Given the description of an element on the screen output the (x, y) to click on. 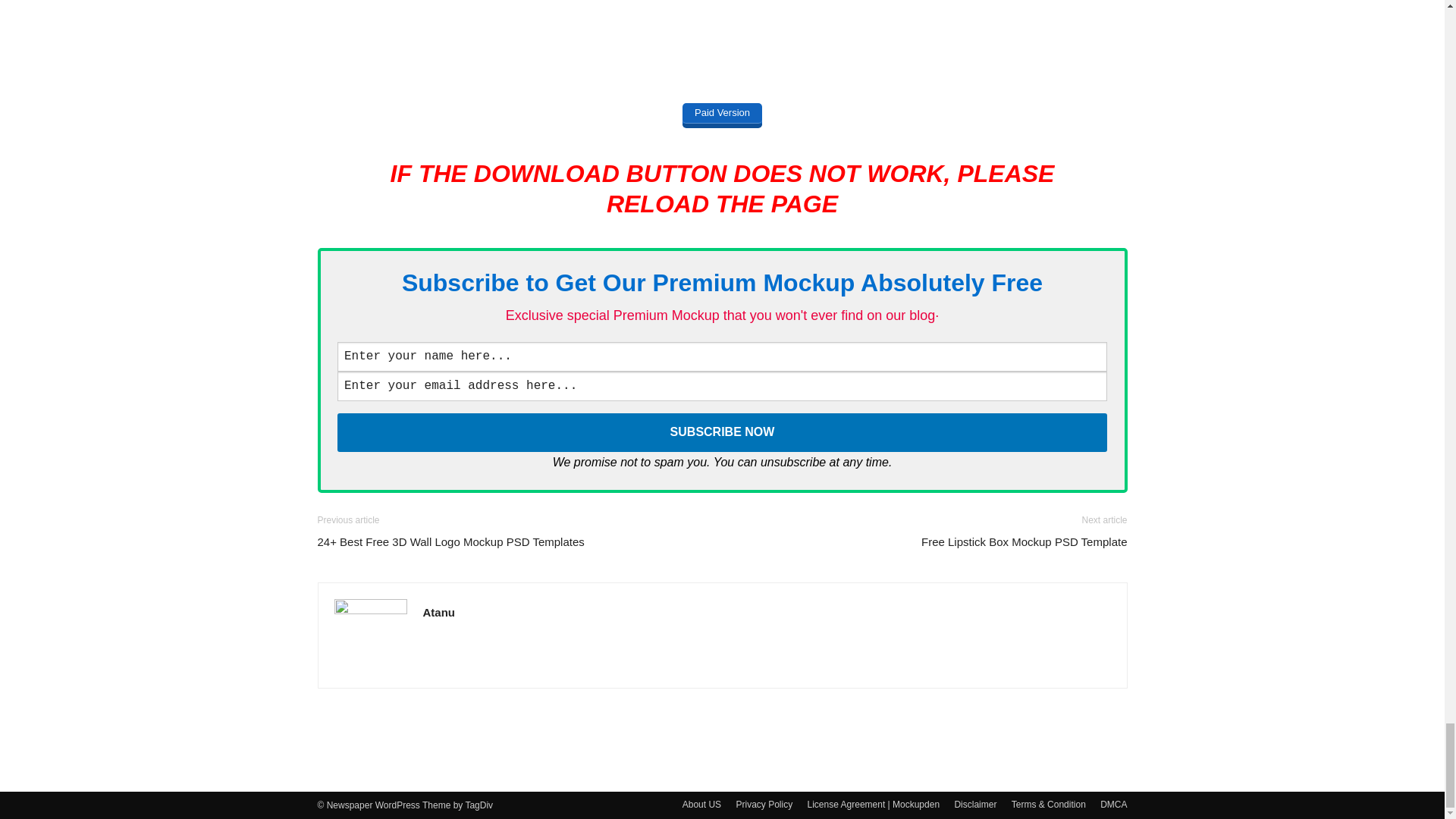
Subscribe Now (721, 432)
